Given the description of an element on the screen output the (x, y) to click on. 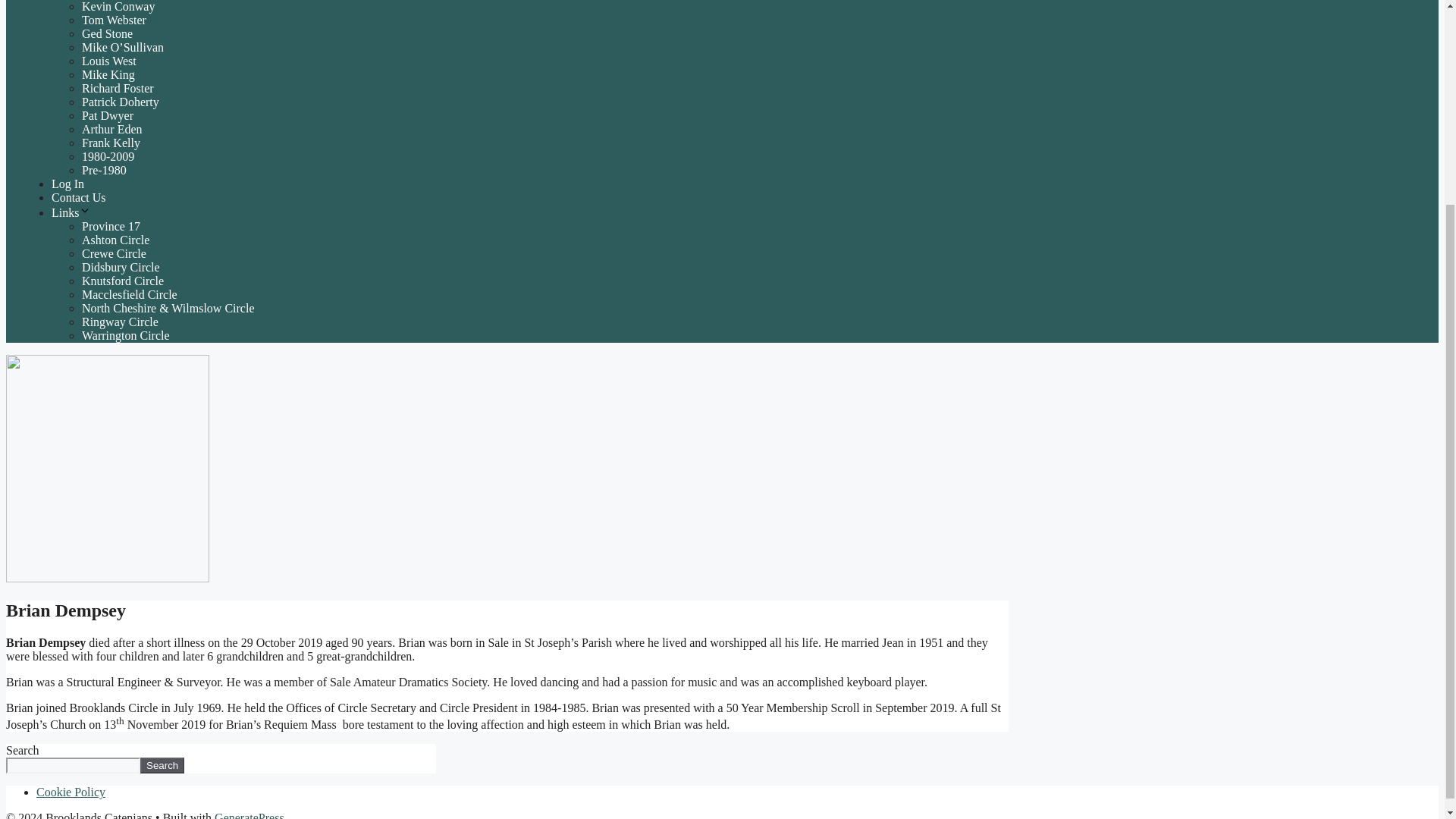
Tom Webster (114, 19)
Province 17 (110, 226)
Frank Kelly (110, 142)
Mike King (108, 74)
Pre-1980 (103, 169)
Didsbury Circle (120, 267)
Log In (67, 183)
Ashton Circle (115, 239)
Knutsford Circle (122, 280)
Contact Us (78, 196)
